Given the description of an element on the screen output the (x, y) to click on. 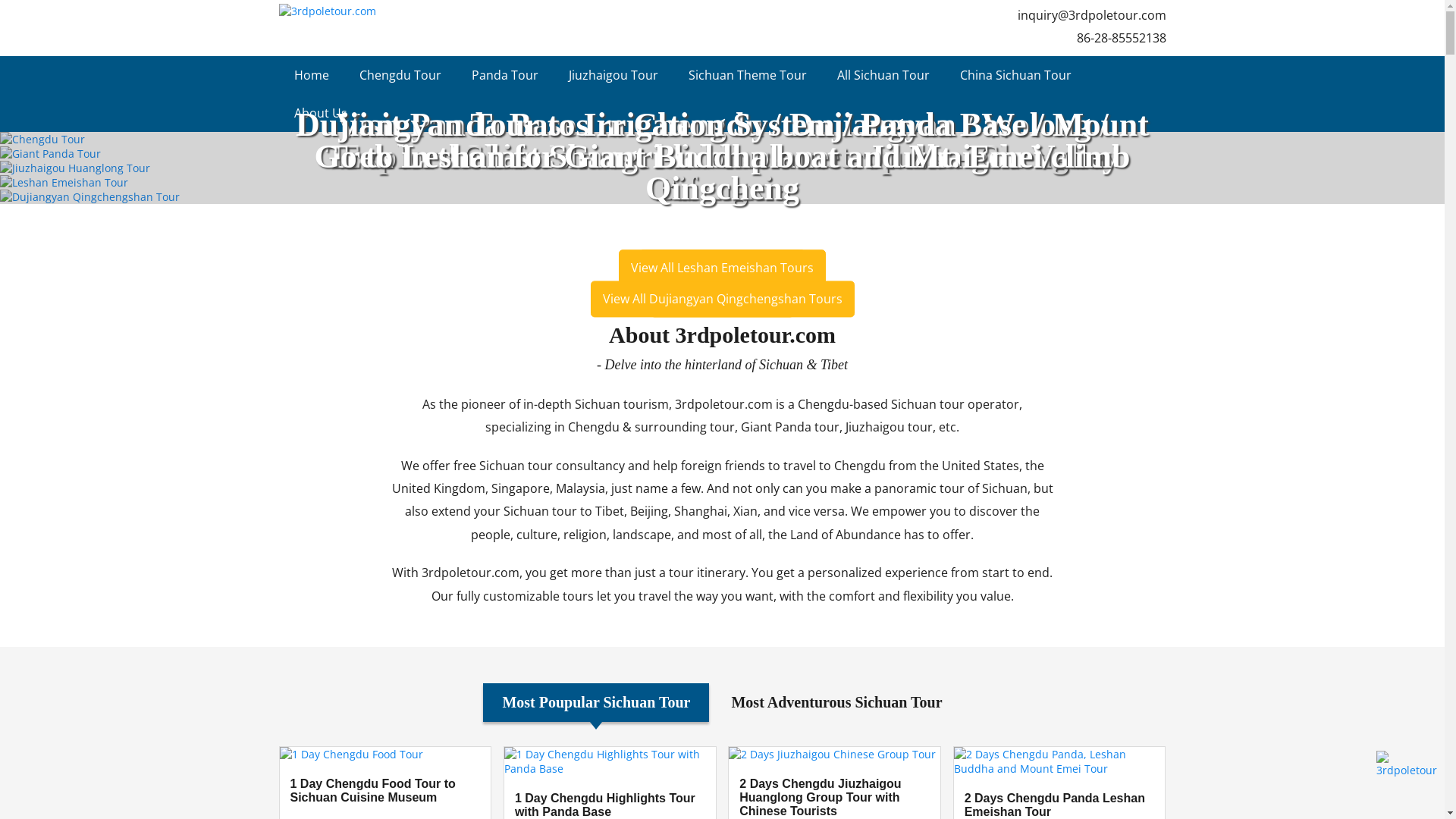
1 Day Chengdu Food Tour to Sichuan Cuisine Museum Element type: text (384, 790)
All Sichuan Tour Element type: text (883, 75)
inquiry@3rdpoletour.com Element type: text (1091, 14)
Leshan Emeishan Tour Element type: hover (722, 182)
View All Jiuzhaigou Tours Element type: text (722, 267)
View All Leshan Emeishan Tours Element type: text (721, 267)
View All Dujiangyan Qingchengshan Tours Element type: text (721, 299)
Giant Panda Tour Element type: hover (722, 153)
View All Panda Tours Element type: text (721, 299)
Panda Tour Element type: text (504, 75)
Sichuan Theme Tour Element type: text (747, 75)
View All Chengdu Tours Element type: text (722, 267)
Chengdu Tour Element type: text (400, 75)
Home Element type: text (311, 75)
Dujiangyan Qingchengshan Tour Element type: hover (722, 196)
Chengdu Tour Element type: hover (722, 138)
Jiuzhaigou Huanglong Tour Element type: hover (722, 167)
China Sichuan Tour Element type: text (1015, 75)
Jiuzhaigou Tour Element type: text (613, 75)
About Us Element type: text (320, 112)
